Given the description of an element on the screen output the (x, y) to click on. 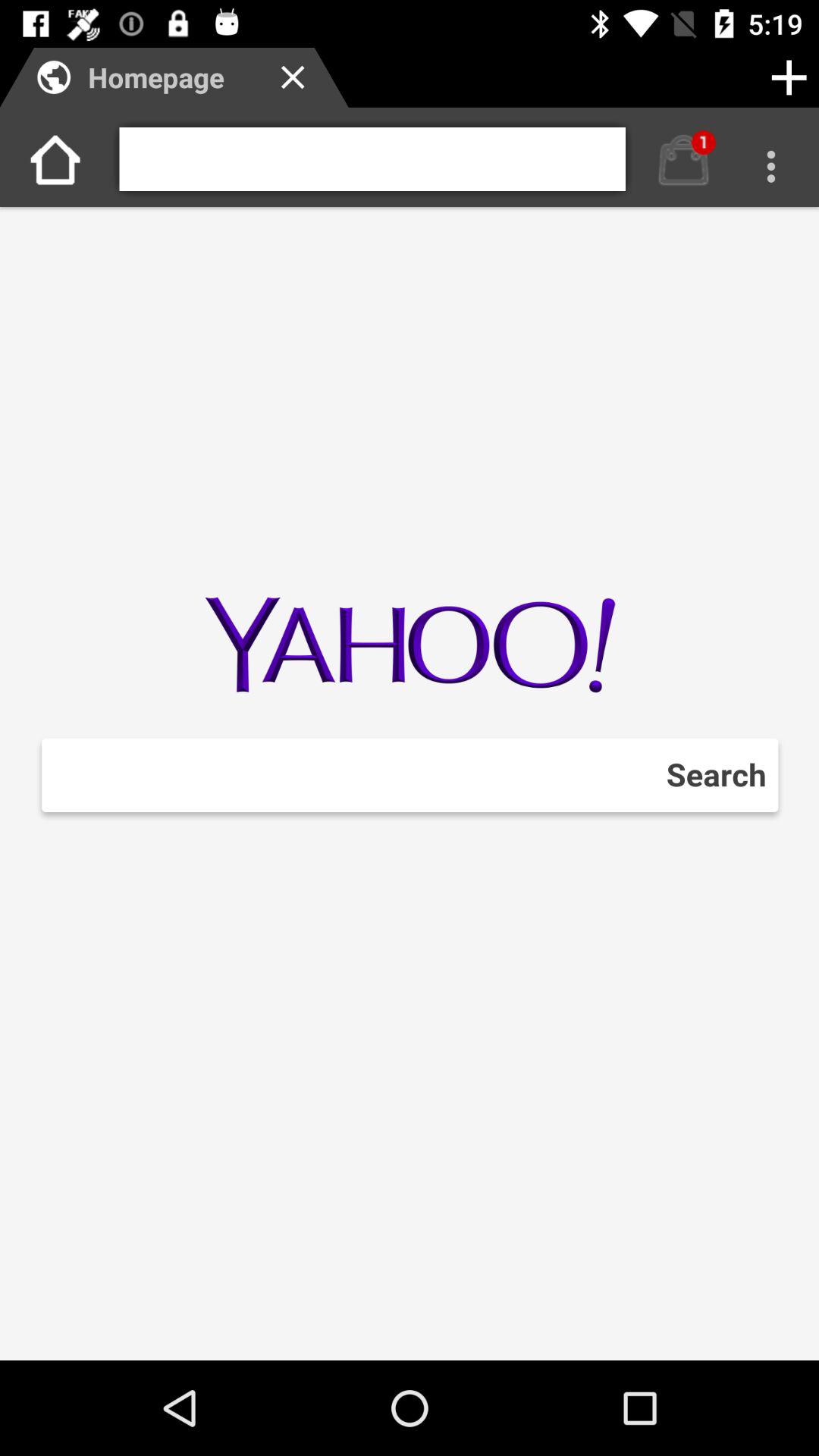
notification (683, 159)
